Given the description of an element on the screen output the (x, y) to click on. 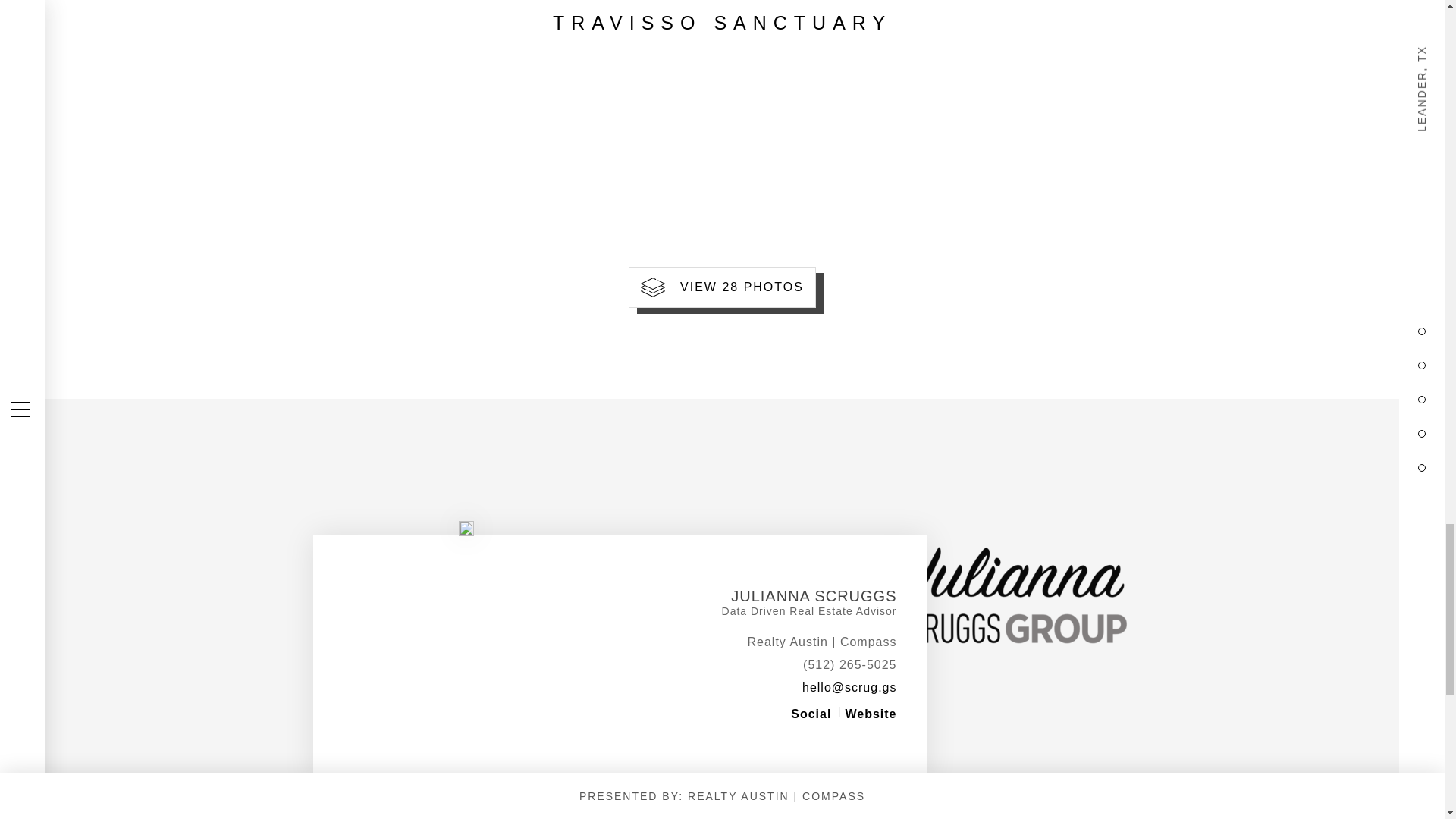
VIEW 28 PHOTOS (721, 286)
Website (870, 713)
